Given the description of an element on the screen output the (x, y) to click on. 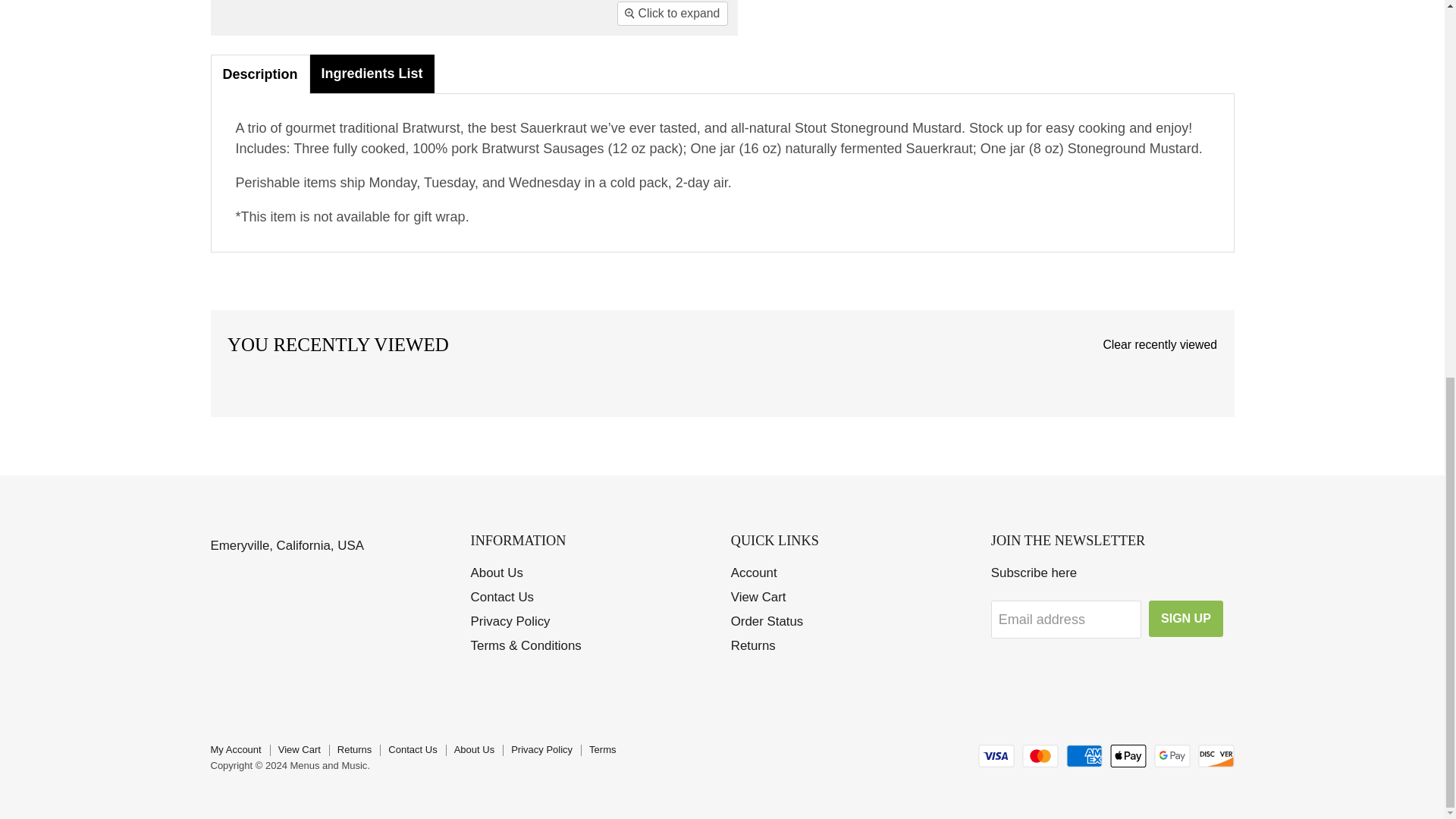
American Express (1083, 755)
Visa (996, 755)
Mastercard (1040, 755)
Discover (1216, 755)
Google Pay (1172, 755)
Apple Pay (1128, 755)
